Given the description of an element on the screen output the (x, y) to click on. 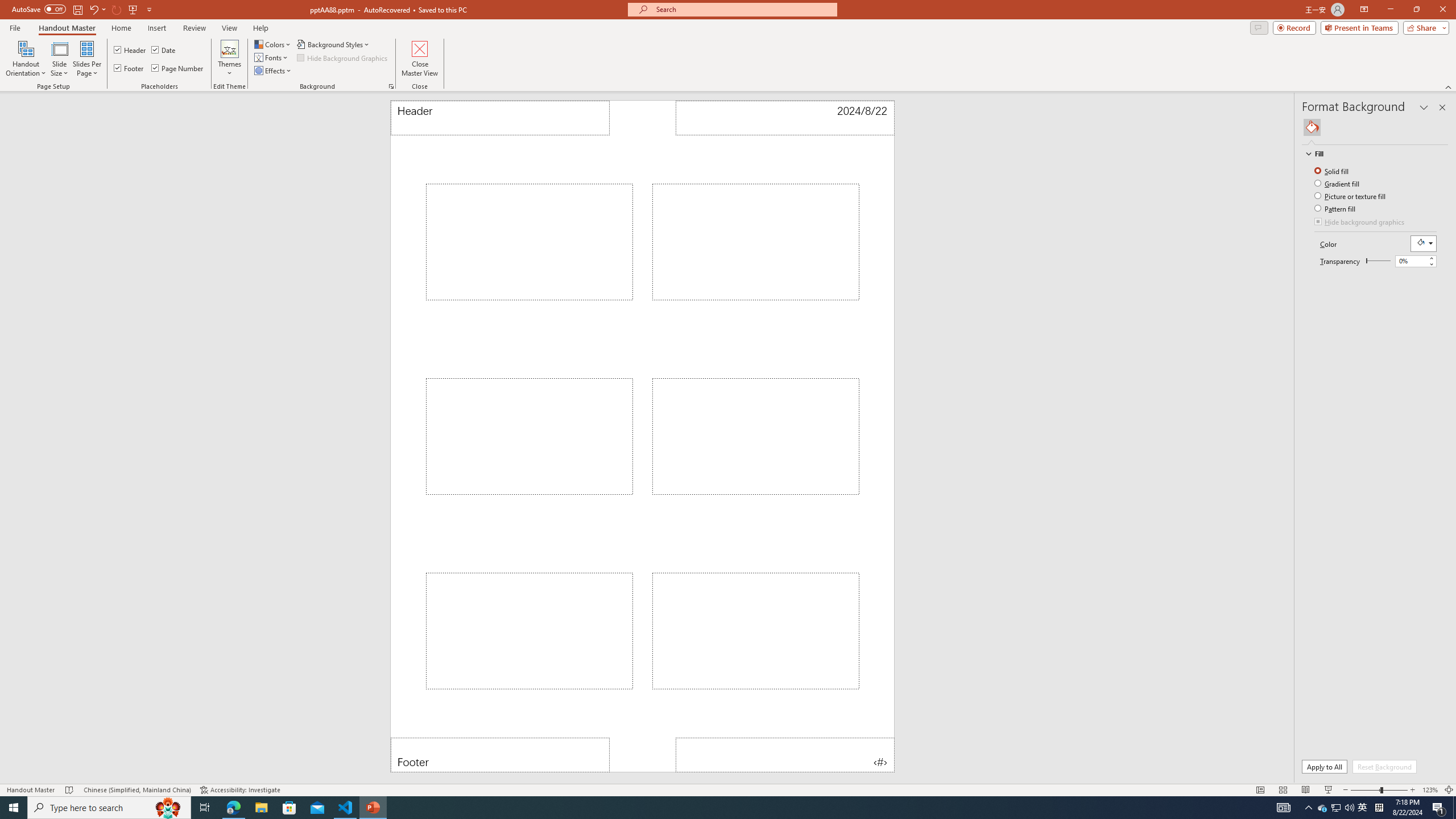
Zoom 123% (1430, 790)
Handout Orientation (26, 58)
Background Styles (333, 44)
Page Number (784, 754)
Footer (129, 67)
Slides Per Page (87, 58)
